Given the description of an element on the screen output the (x, y) to click on. 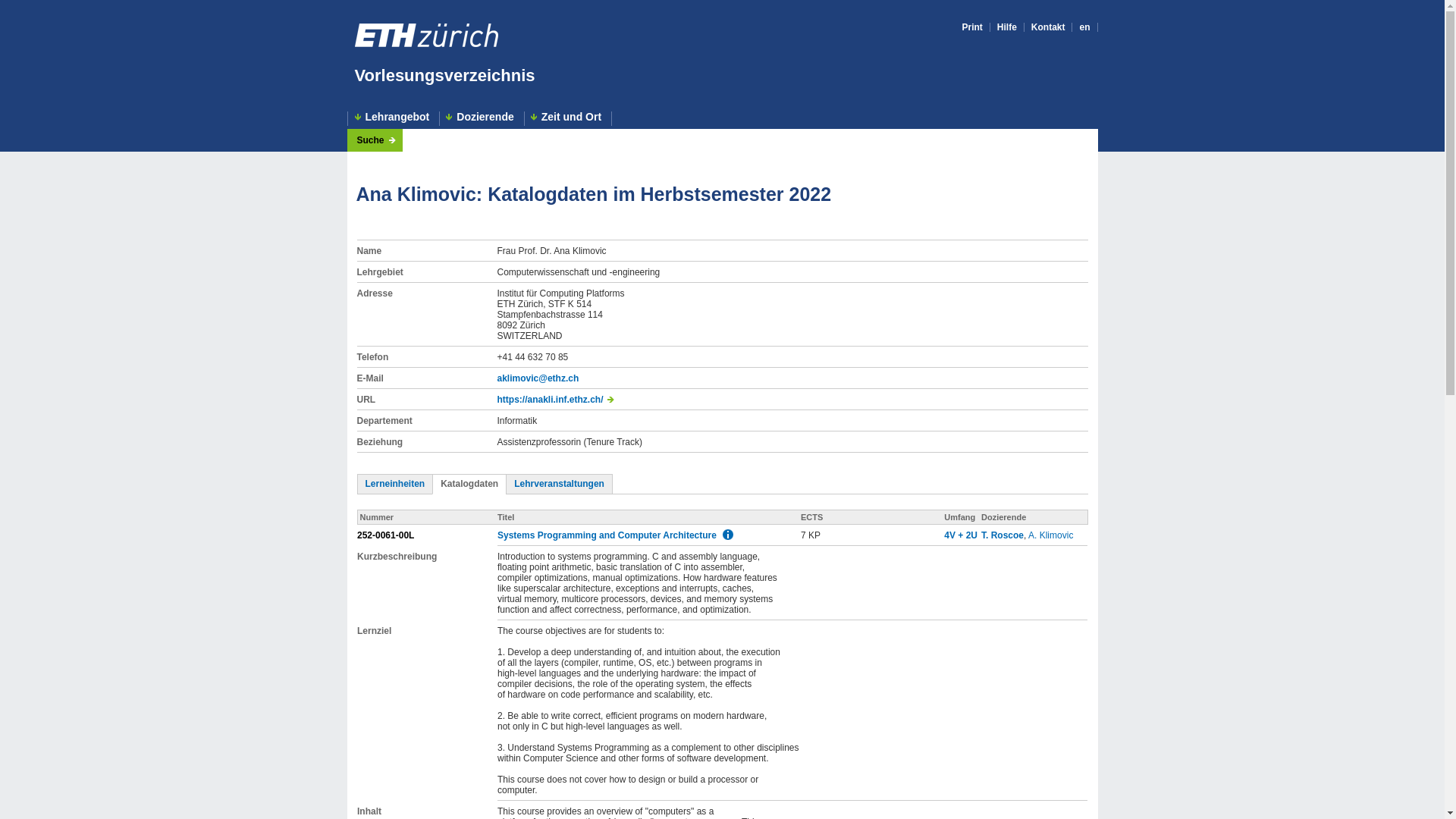
A. Klimovic (1050, 534)
Suche (375, 139)
Information (727, 534)
Lehrveranstaltungen (558, 483)
Lehrangebot (394, 118)
Systems Programming and Computer Architecture (606, 534)
en (1083, 26)
T. Roscoe (1002, 534)
Hilfe (1006, 26)
Print (970, 26)
